Given the description of an element on the screen output the (x, y) to click on. 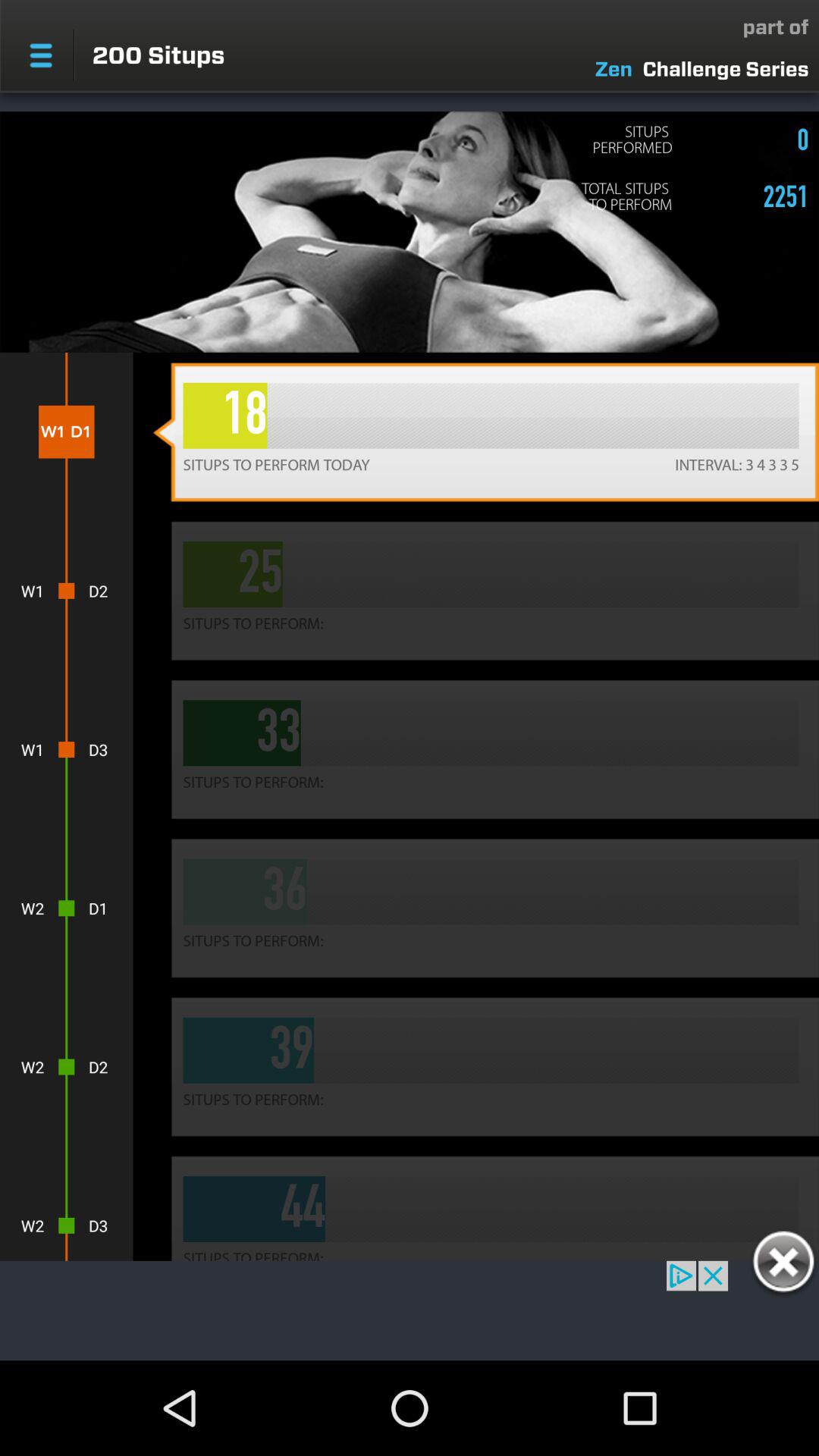
the logo says to close the add (783, 1264)
